Given the description of an element on the screen output the (x, y) to click on. 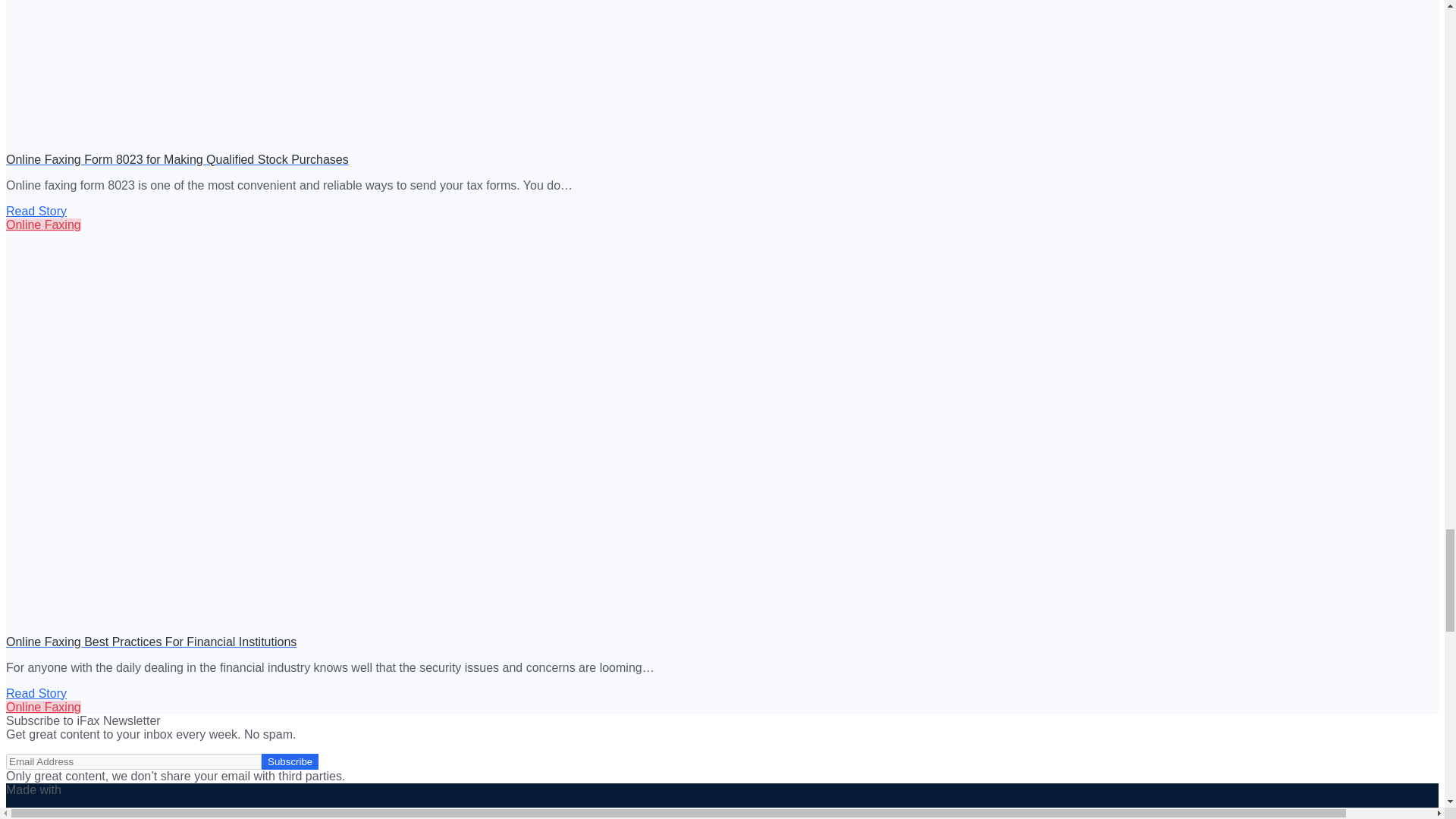
Online Faxing Form 8023 for Making Qualified Stock Purchases (296, 74)
Subscribe (290, 761)
